Given the description of an element on the screen output the (x, y) to click on. 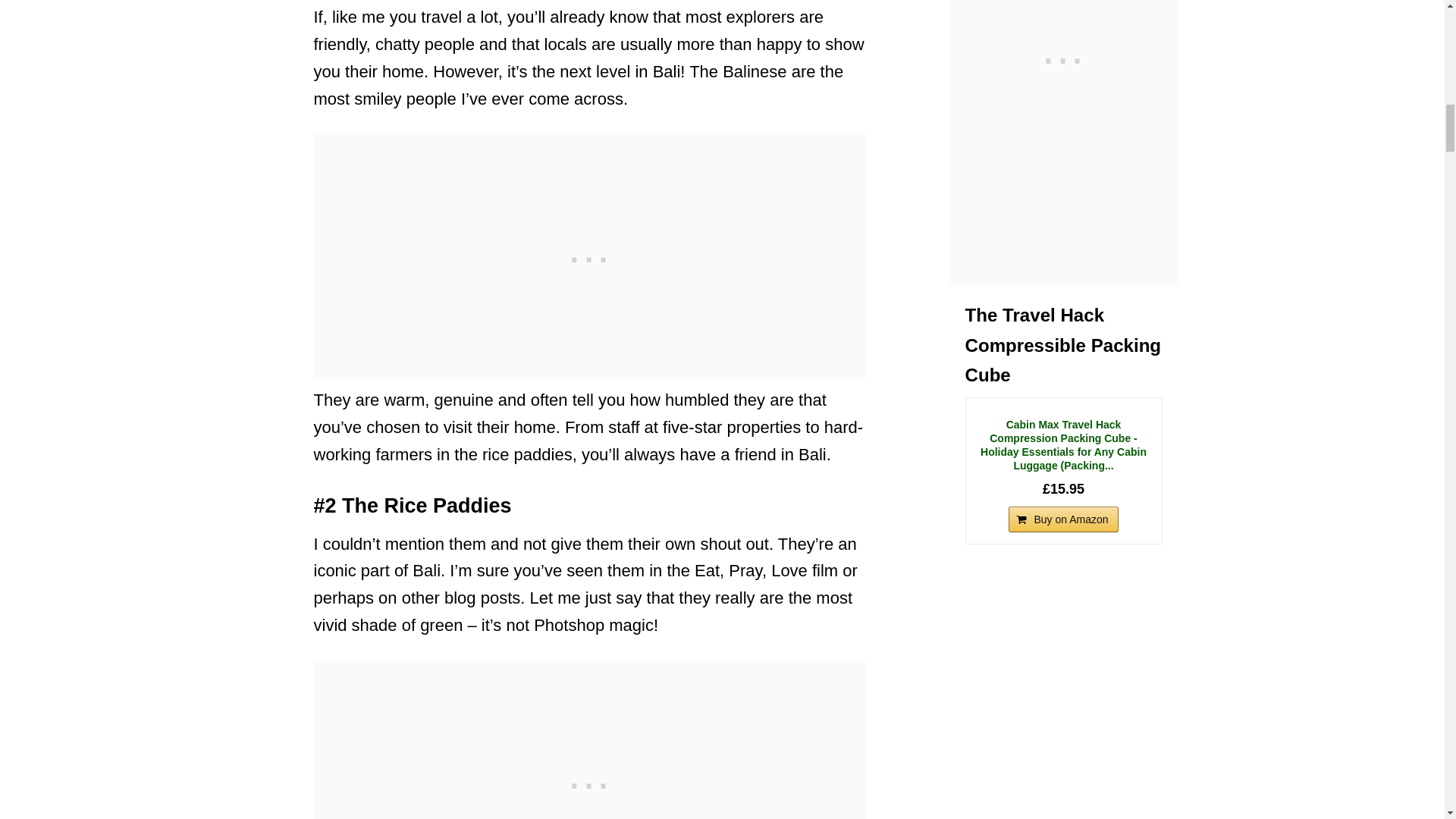
Buy on Amazon (1063, 519)
